Given the description of an element on the screen output the (x, y) to click on. 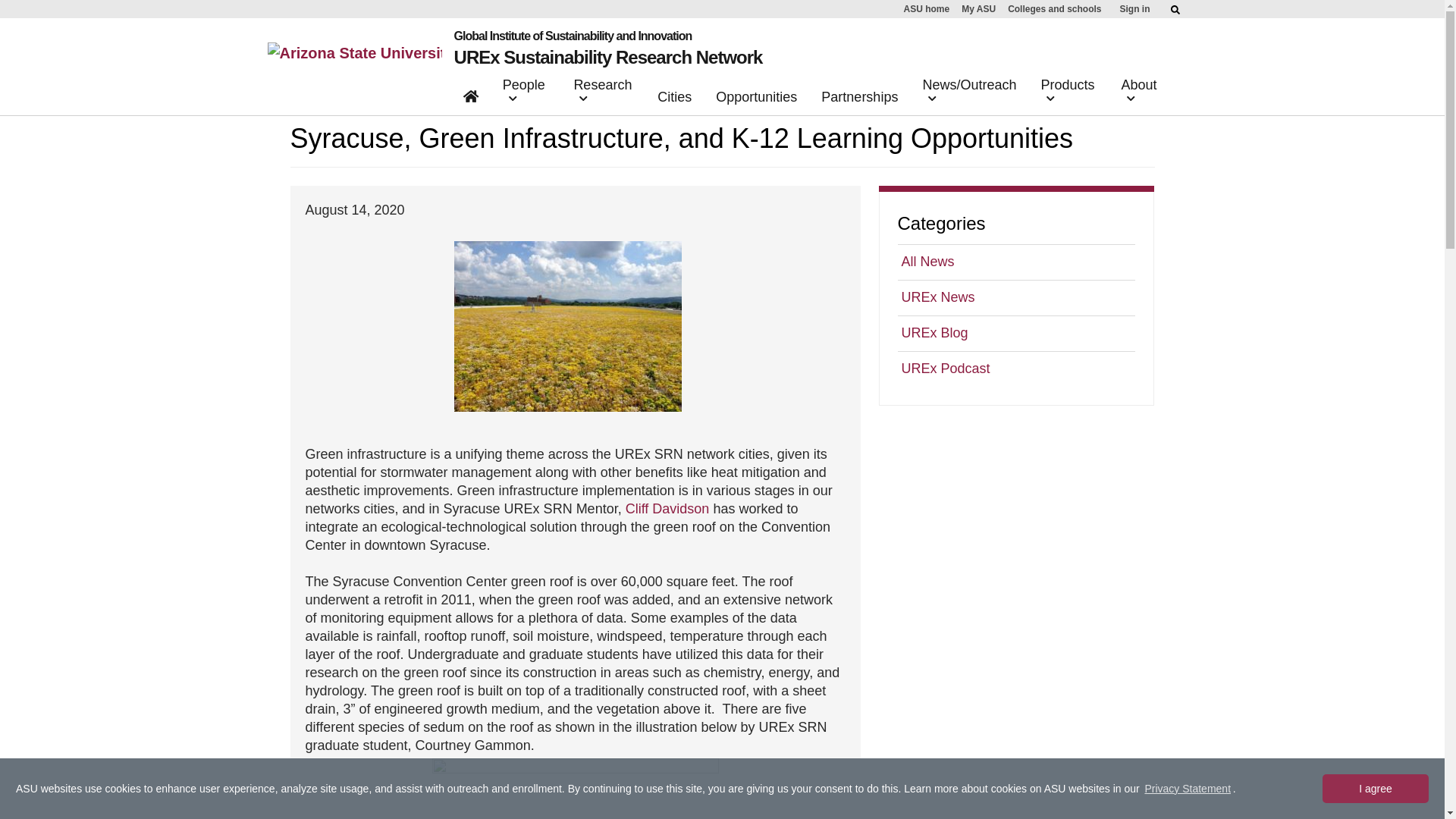
My ASU (978, 9)
Products (1067, 93)
Opportunities (756, 100)
People (526, 93)
Cities (673, 100)
Global Institute of Sustainability and Innovation (608, 36)
Sign in (1134, 9)
Partnerships (859, 100)
Privacy Statement (1187, 788)
